Given the description of an element on the screen output the (x, y) to click on. 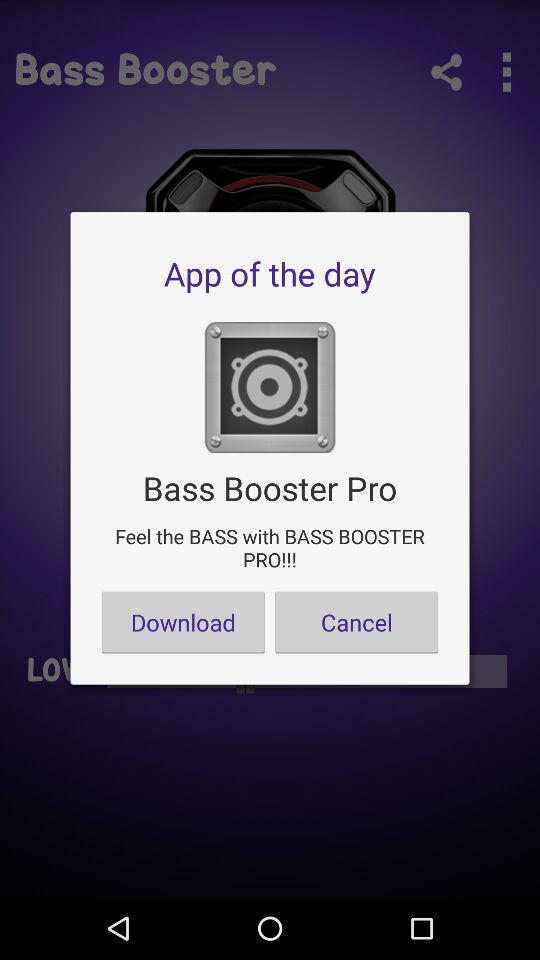
flip to the download item (183, 622)
